Given the description of an element on the screen output the (x, y) to click on. 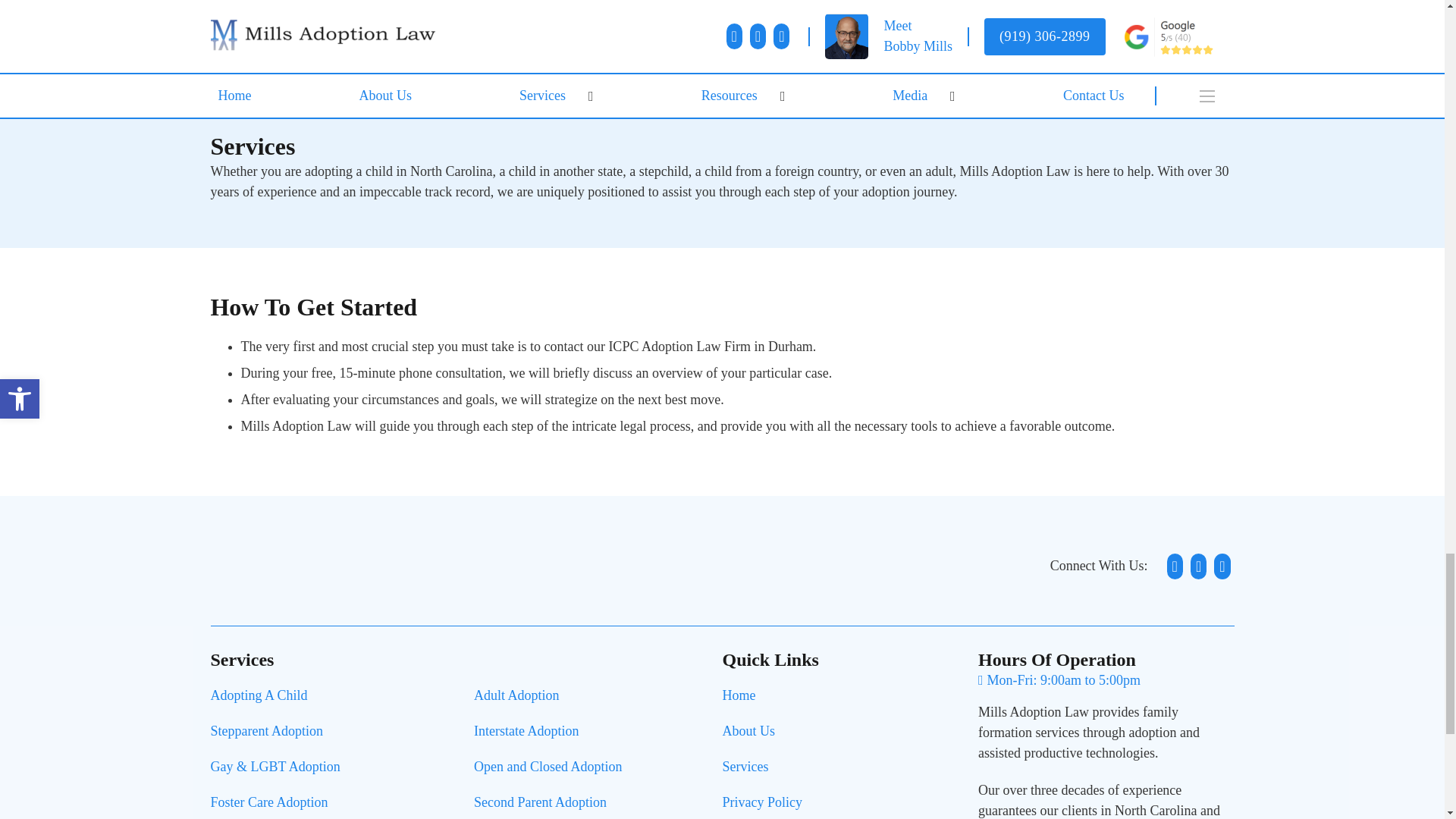
GMB  (1221, 566)
Linkedin (1197, 566)
FaceBook (1174, 566)
